Given the description of an element on the screen output the (x, y) to click on. 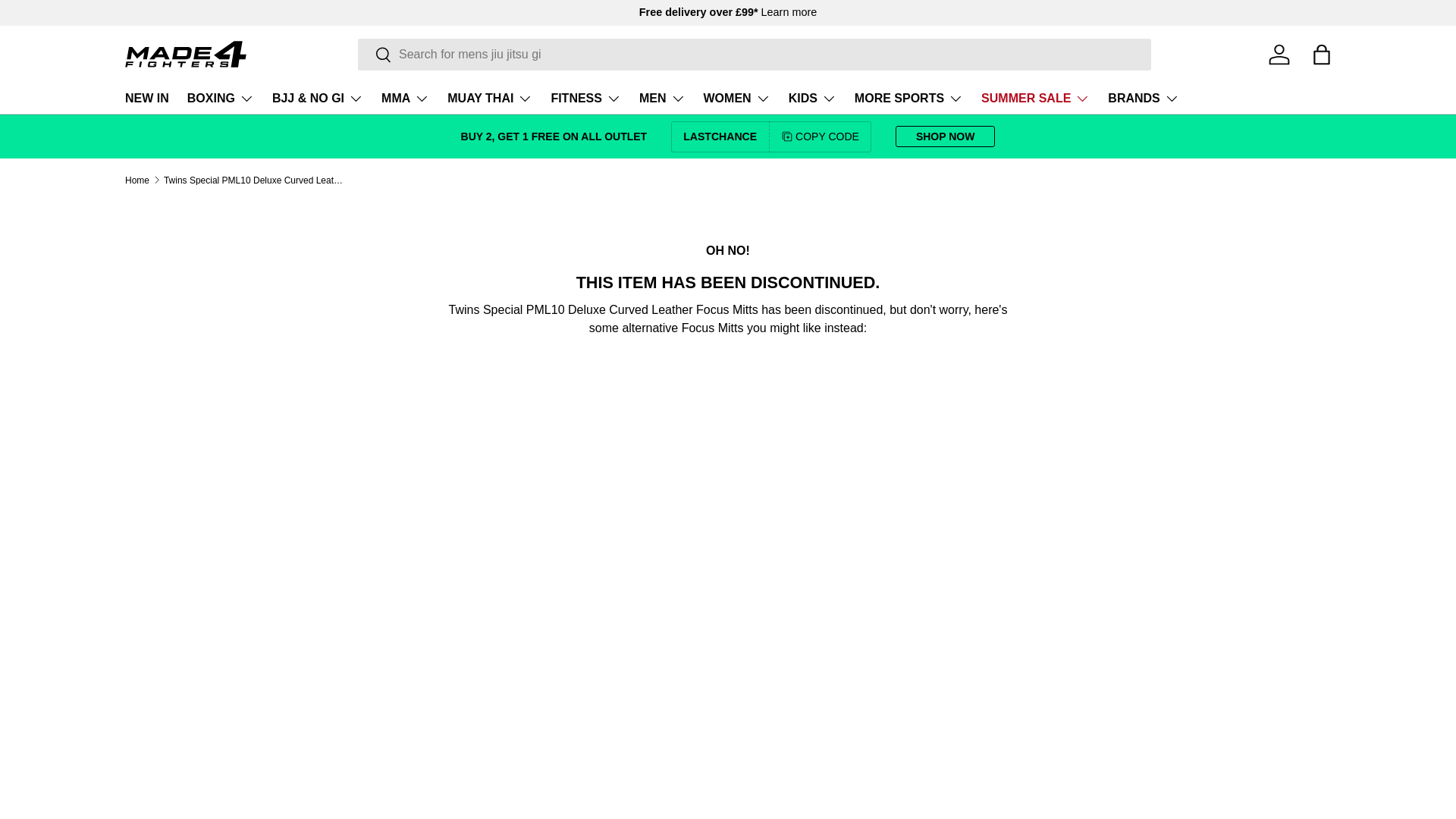
United Kingdom (788, 11)
Learn more (788, 11)
Bag (1321, 54)
BOXING (220, 98)
SKIP TO CONTENT (68, 21)
Outlet (554, 136)
Log in (1278, 54)
NEW IN (146, 98)
Search (374, 55)
